Given the description of an element on the screen output the (x, y) to click on. 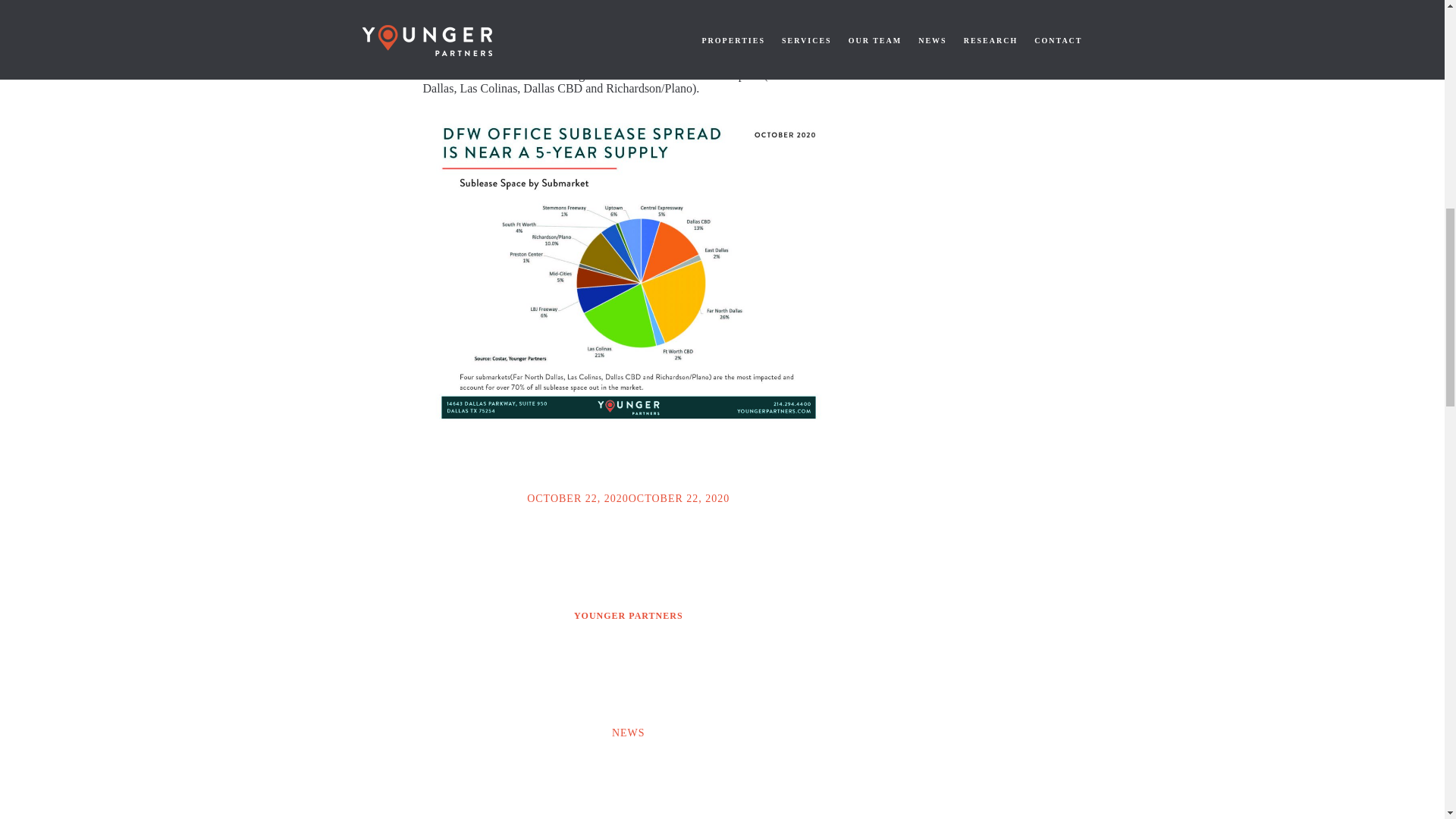
NEWS (628, 732)
OCTOBER 22, 2020OCTOBER 22, 2020 (628, 498)
YOUNGER PARTNERS (627, 616)
